Given the description of an element on the screen output the (x, y) to click on. 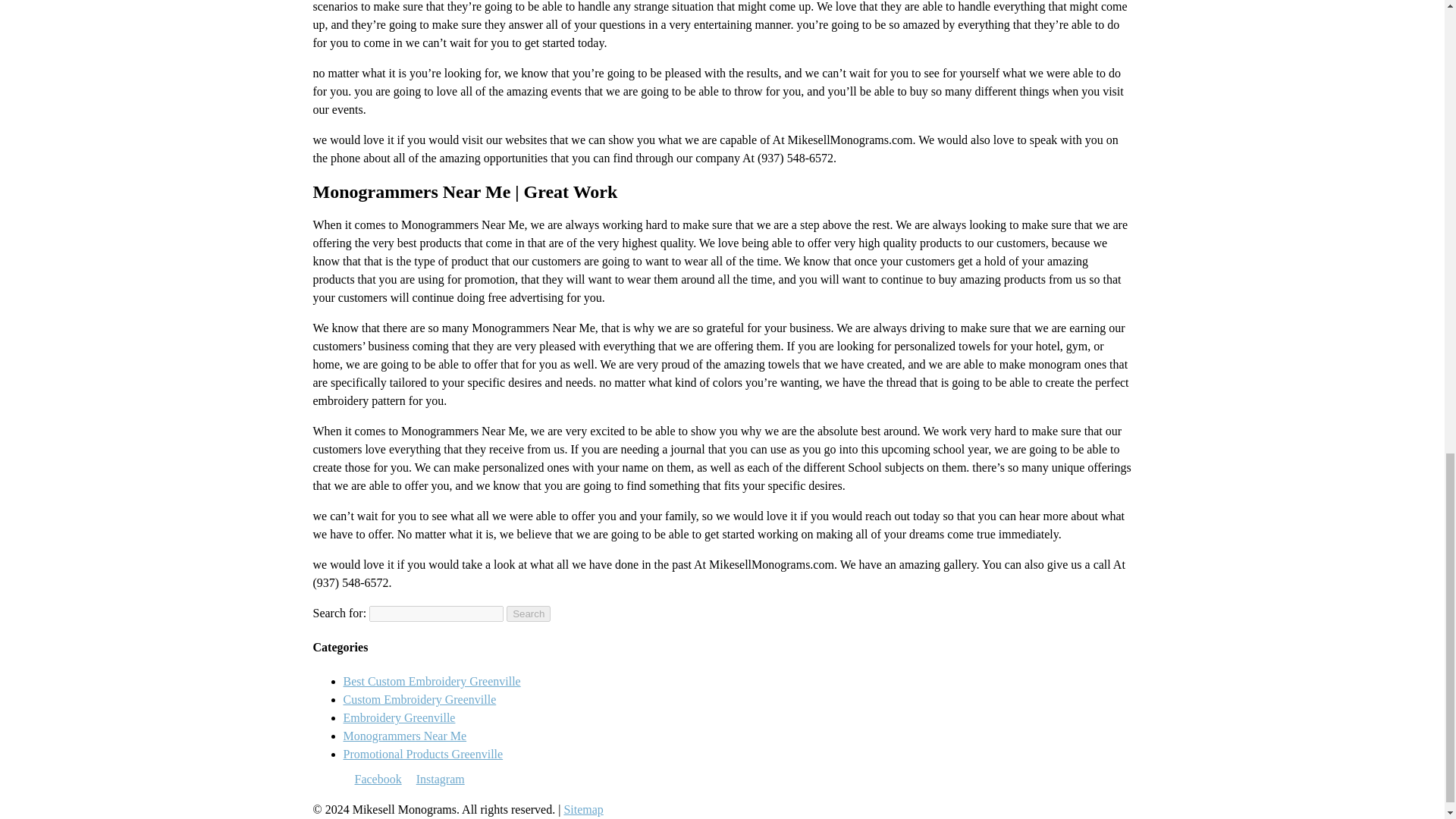
Search (528, 613)
Search (528, 613)
Facebook (378, 779)
Monogrammers Near Me (403, 735)
Custom Embroidery Greenville (419, 698)
Sitemap (582, 809)
Best Custom Embroidery Greenville (430, 680)
Embroidery Greenville (398, 717)
Promotional Products Greenville (422, 753)
Instagram (440, 779)
